Given the description of an element on the screen output the (x, y) to click on. 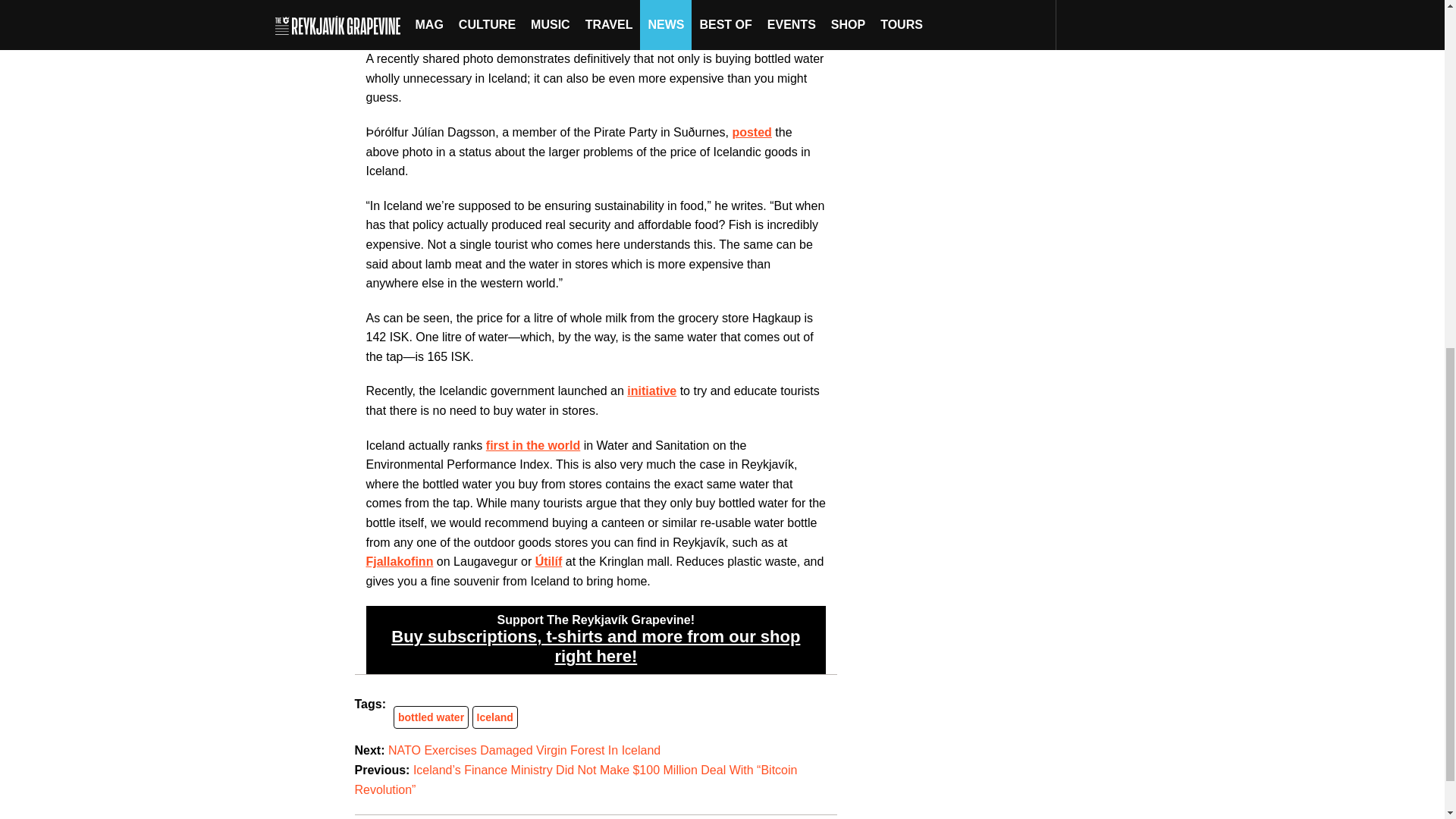
NATO Exercises Damaged Virgin Forest In Iceland (524, 749)
initiative (652, 390)
bottled water (430, 717)
Iceland (495, 717)
Fjallakofinn (398, 561)
Tweet (381, 29)
first in the world (532, 445)
posted (751, 132)
